Given the description of an element on the screen output the (x, y) to click on. 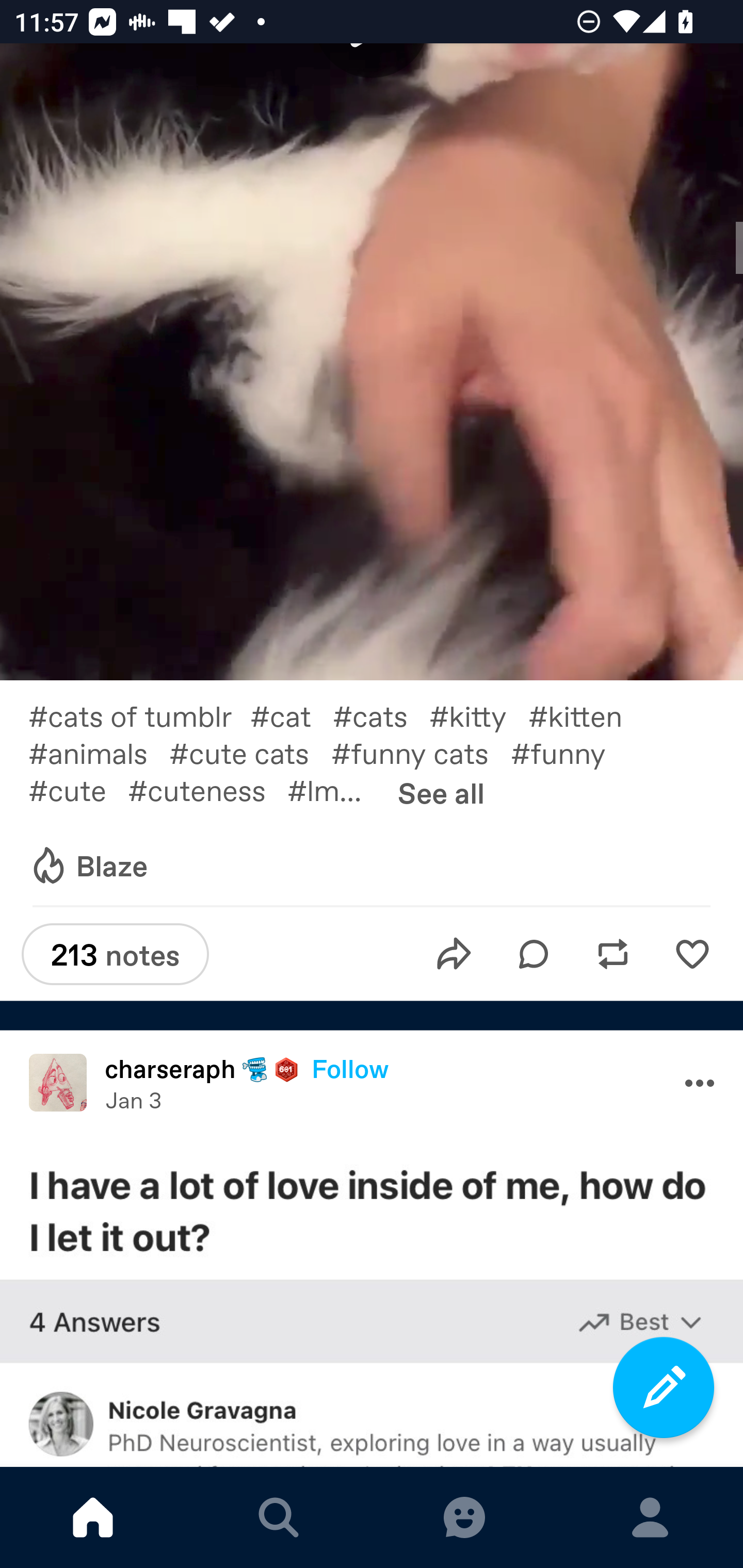
Double tap to show fullscreen (371, 361)
#cats of tumblr (139, 714)
#cat (291, 714)
#cats (380, 714)
#kitty (478, 714)
#kitten (586, 714)
#animals (98, 752)
#cute cats (250, 752)
#funny cats (421, 752)
#funny (569, 752)
#cute (77, 789)
#cuteness (207, 789)
#lm… (335, 789)
See all (441, 792)
Blaze Blaze Blaze (88, 865)
Share post to message (454, 953)
Reply (533, 953)
Reblog (612, 953)
Like (691, 953)
213 notes (114, 953)
Follow (350, 1068)
Compose a new post (663, 1387)
DASHBOARD (92, 1517)
EXPLORE (278, 1517)
MESSAGES (464, 1517)
ACCOUNT (650, 1517)
